Given the description of an element on the screen output the (x, y) to click on. 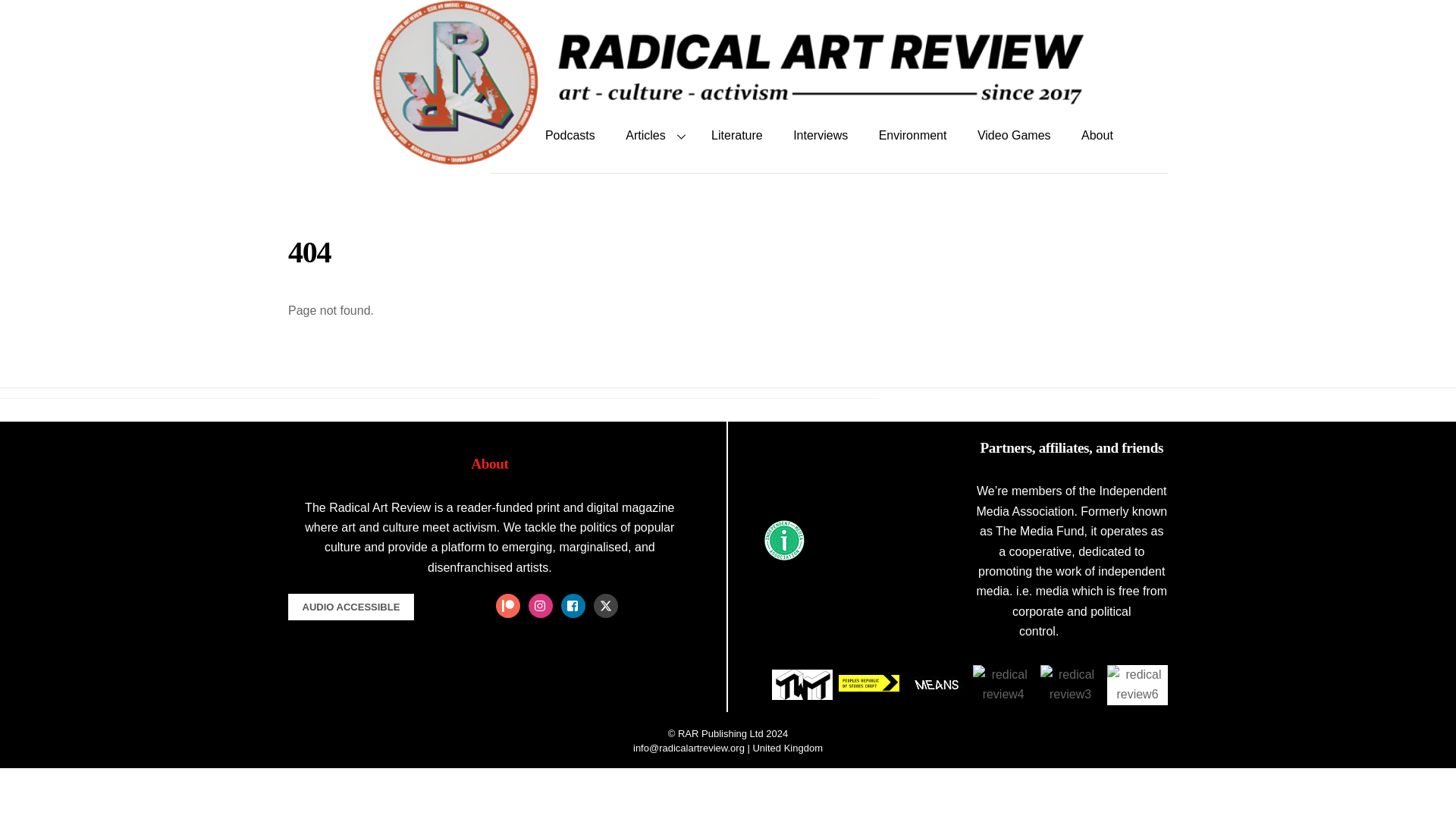
redical review3 (1070, 685)
redical review5 (802, 684)
redical review6 (1136, 685)
AUDIO ACCESSIBLE (350, 606)
redical review4 (1002, 685)
redical review2 (868, 682)
Video Games (1013, 135)
Environment (912, 135)
Learn more (1093, 631)
Podcasts (569, 135)
About (1096, 135)
Literature (736, 135)
Articles (652, 135)
Interviews (820, 135)
